Given the description of an element on the screen output the (x, y) to click on. 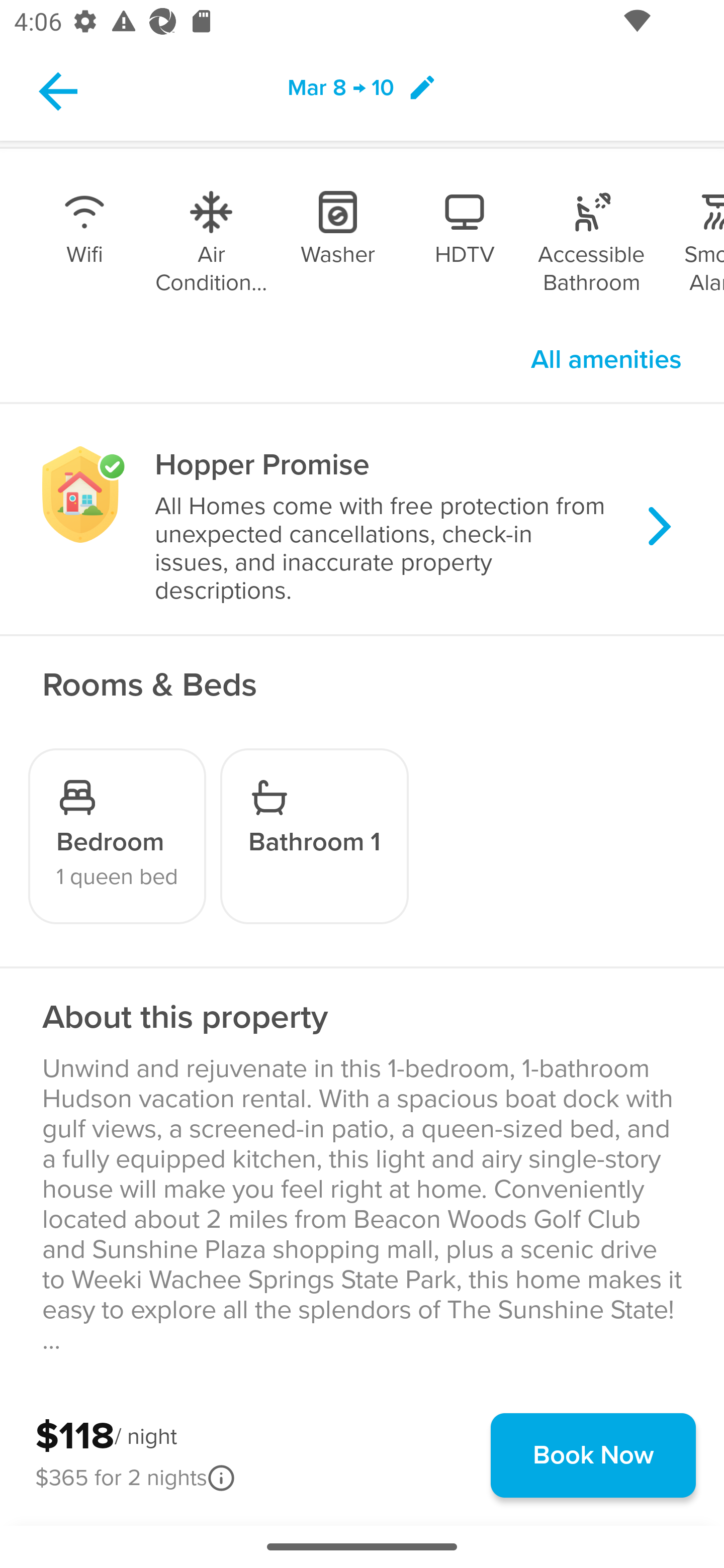
Mar 8 → 10 (361, 90)
All amenities (606, 359)
Book Now (592, 1454)
